Given the description of an element on the screen output the (x, y) to click on. 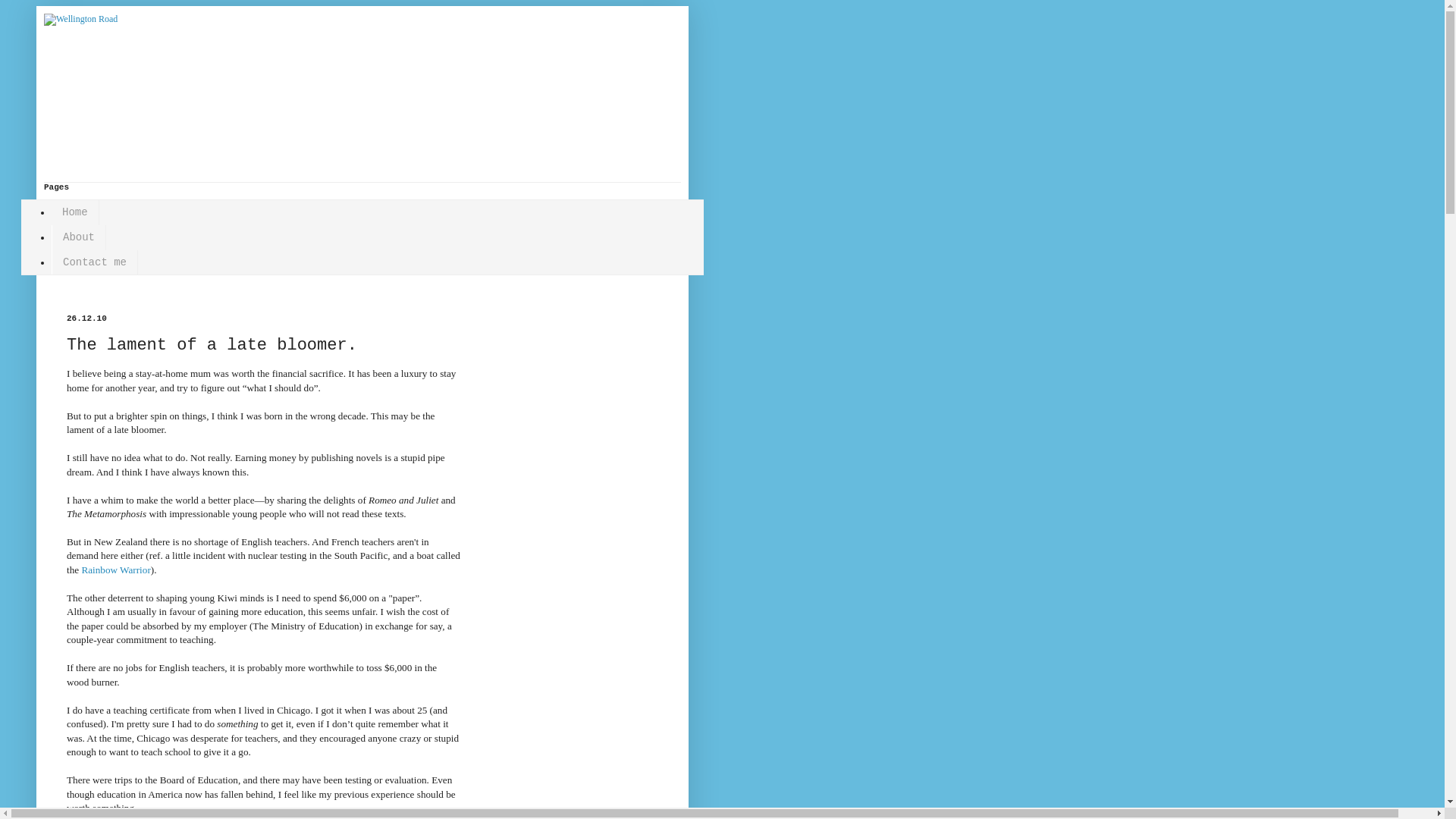
Rainbow Warrior (115, 569)
About (78, 237)
Contact me (94, 262)
Home (74, 212)
